Given the description of an element on the screen output the (x, y) to click on. 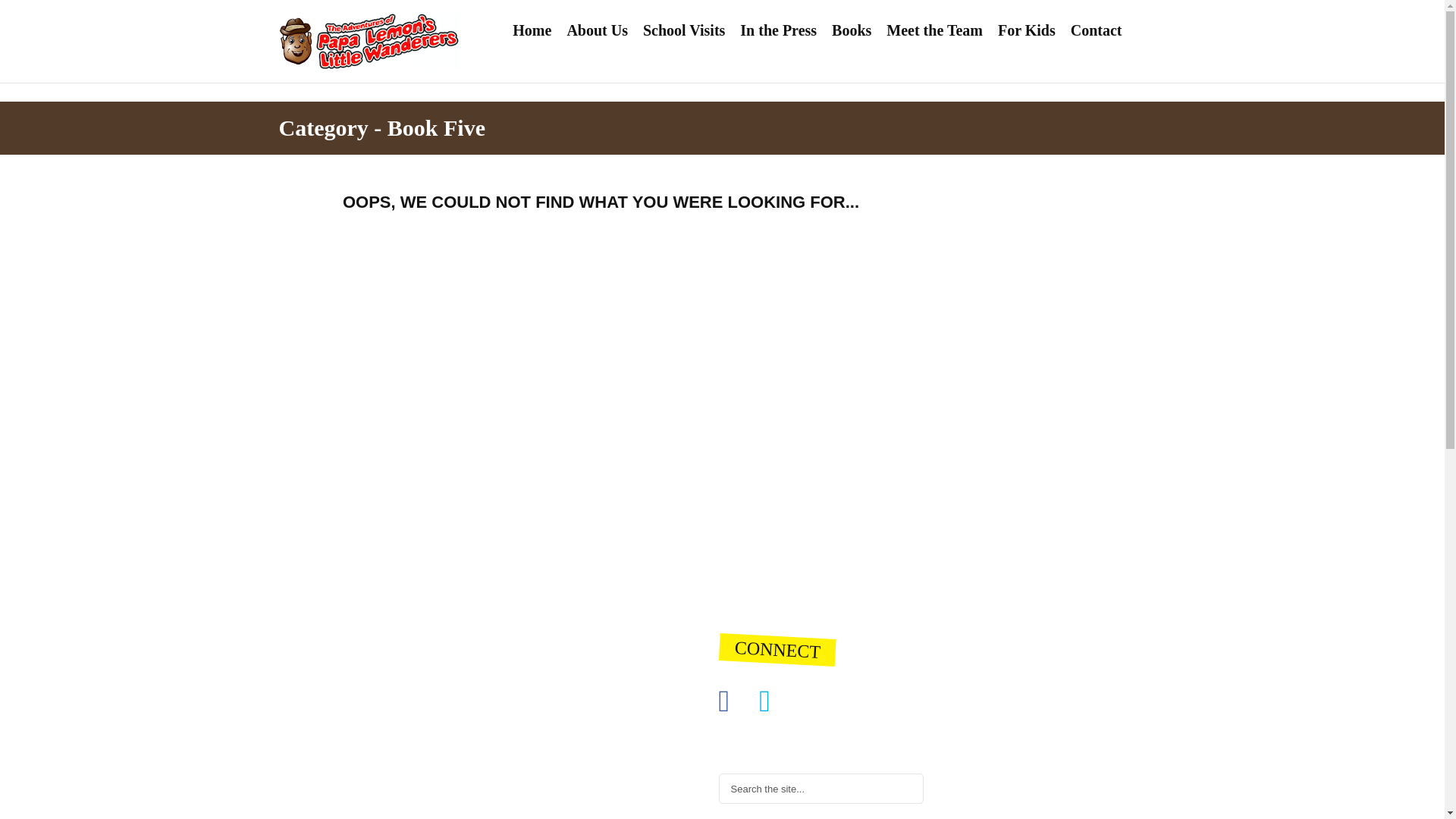
Contact (1095, 29)
School Visits (683, 29)
Home (532, 29)
In the Press (778, 29)
Books (851, 29)
For Kids (1026, 29)
Meet the Team (934, 29)
About Us (596, 29)
